Given the description of an element on the screen output the (x, y) to click on. 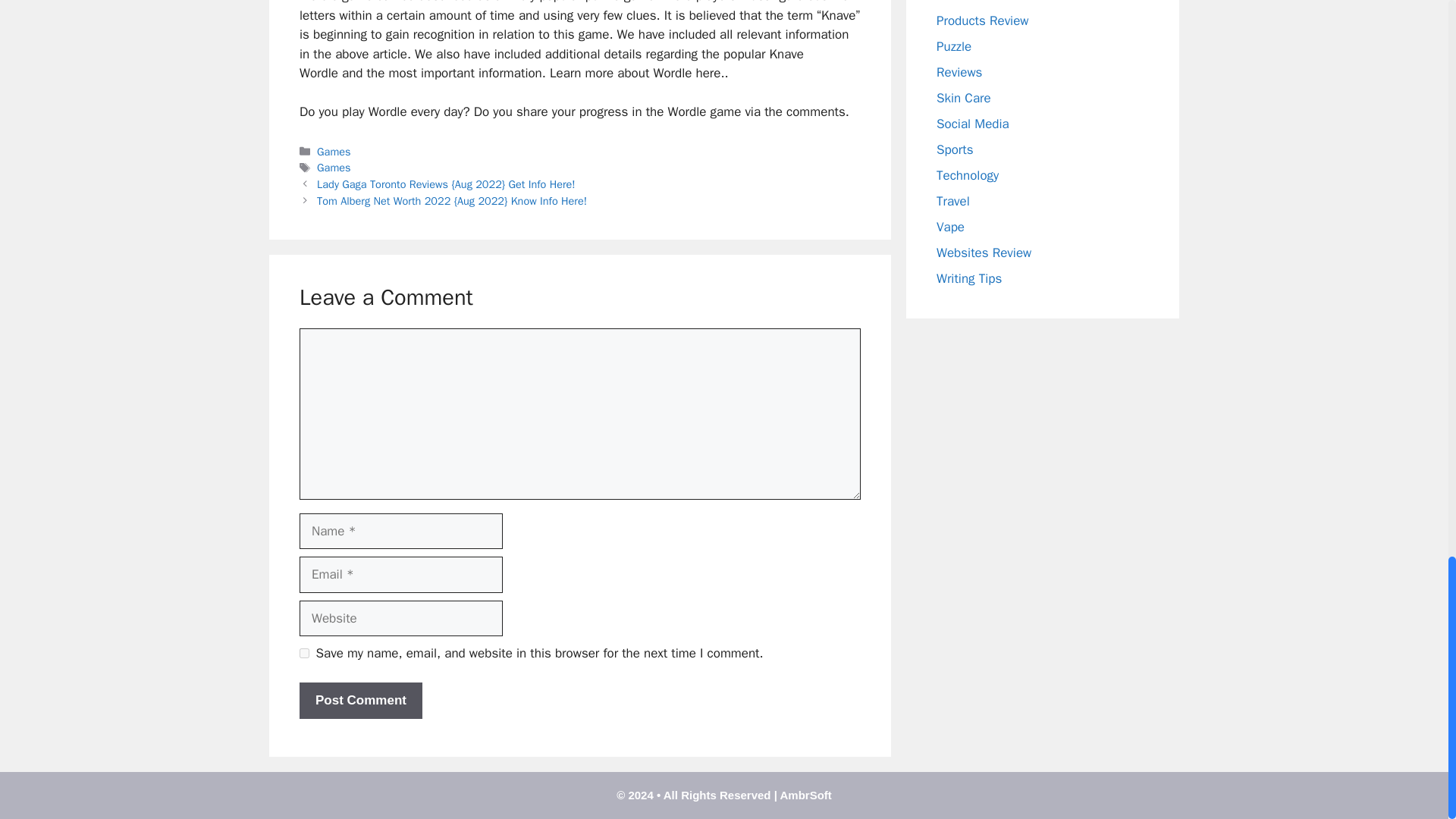
Games (333, 167)
Games (333, 151)
Post Comment (360, 700)
Post Comment (360, 700)
yes (303, 653)
